Given the description of an element on the screen output the (x, y) to click on. 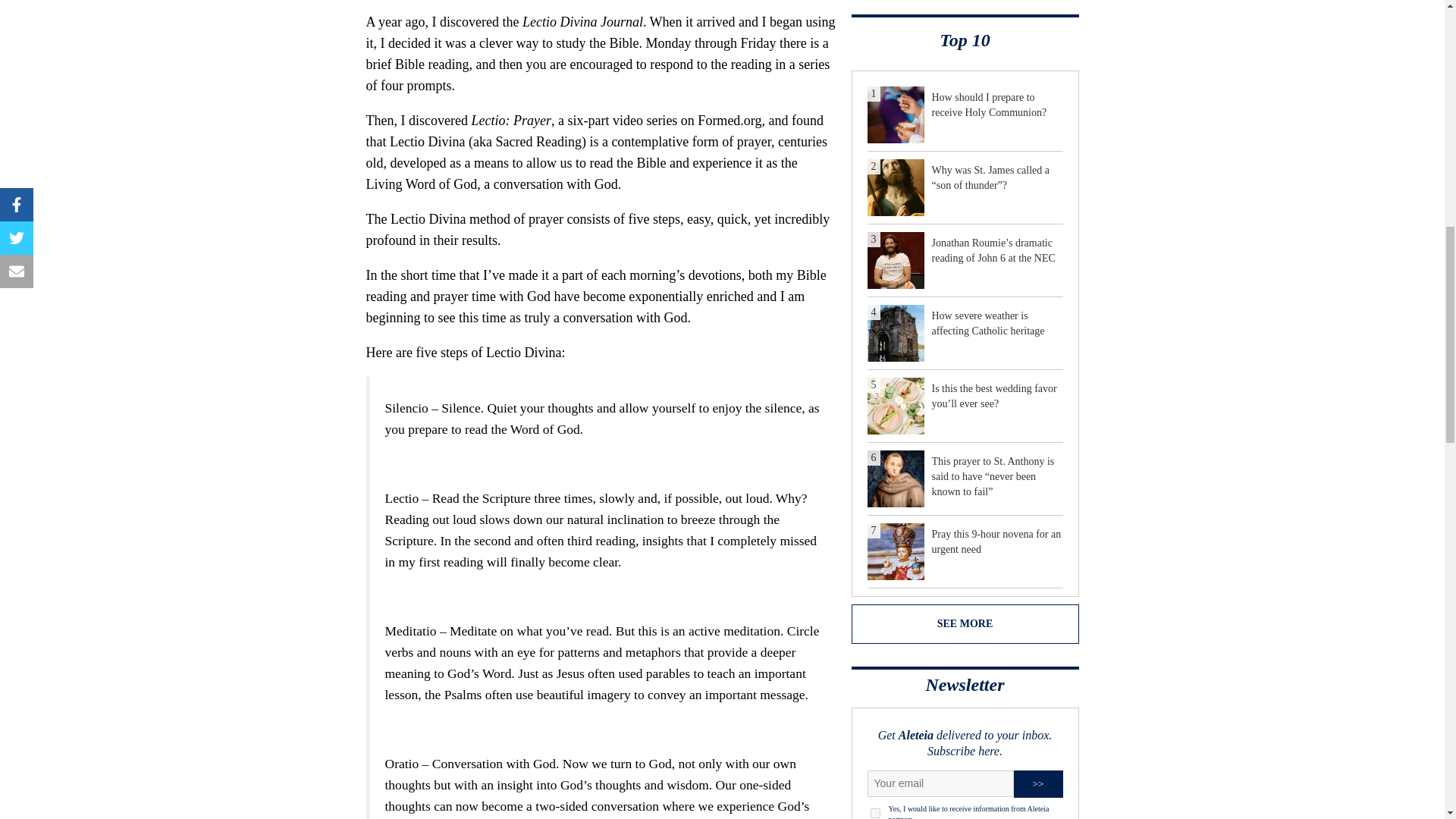
1 (875, 813)
